Given the description of an element on the screen output the (x, y) to click on. 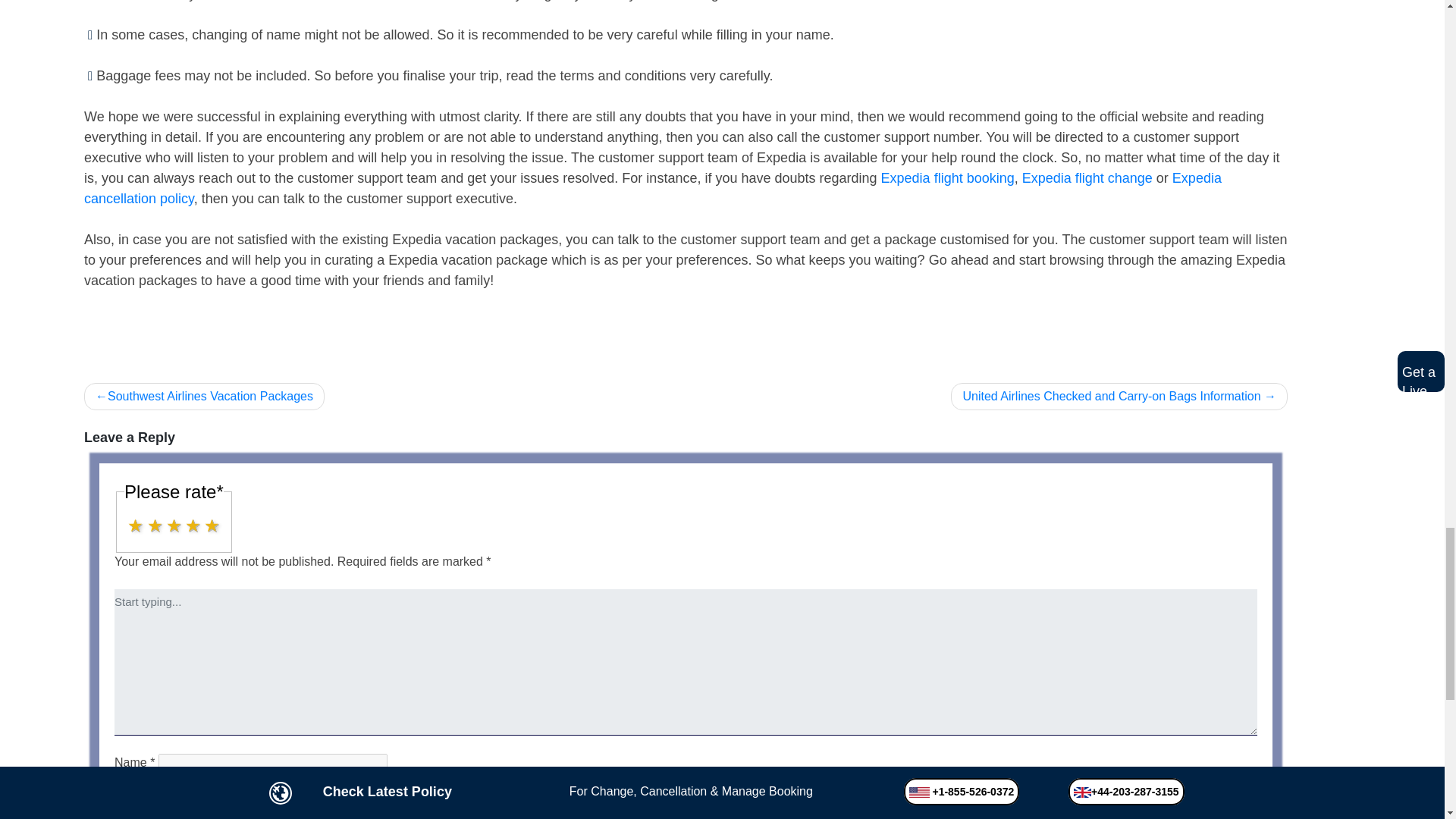
3 (128, 520)
Very bad (137, 526)
1 (128, 520)
4 (128, 520)
Meh (174, 526)
Kinda bad (156, 526)
Rocks! (212, 526)
5 (128, 520)
Pretty good (193, 526)
2 (128, 520)
